Given the description of an element on the screen output the (x, y) to click on. 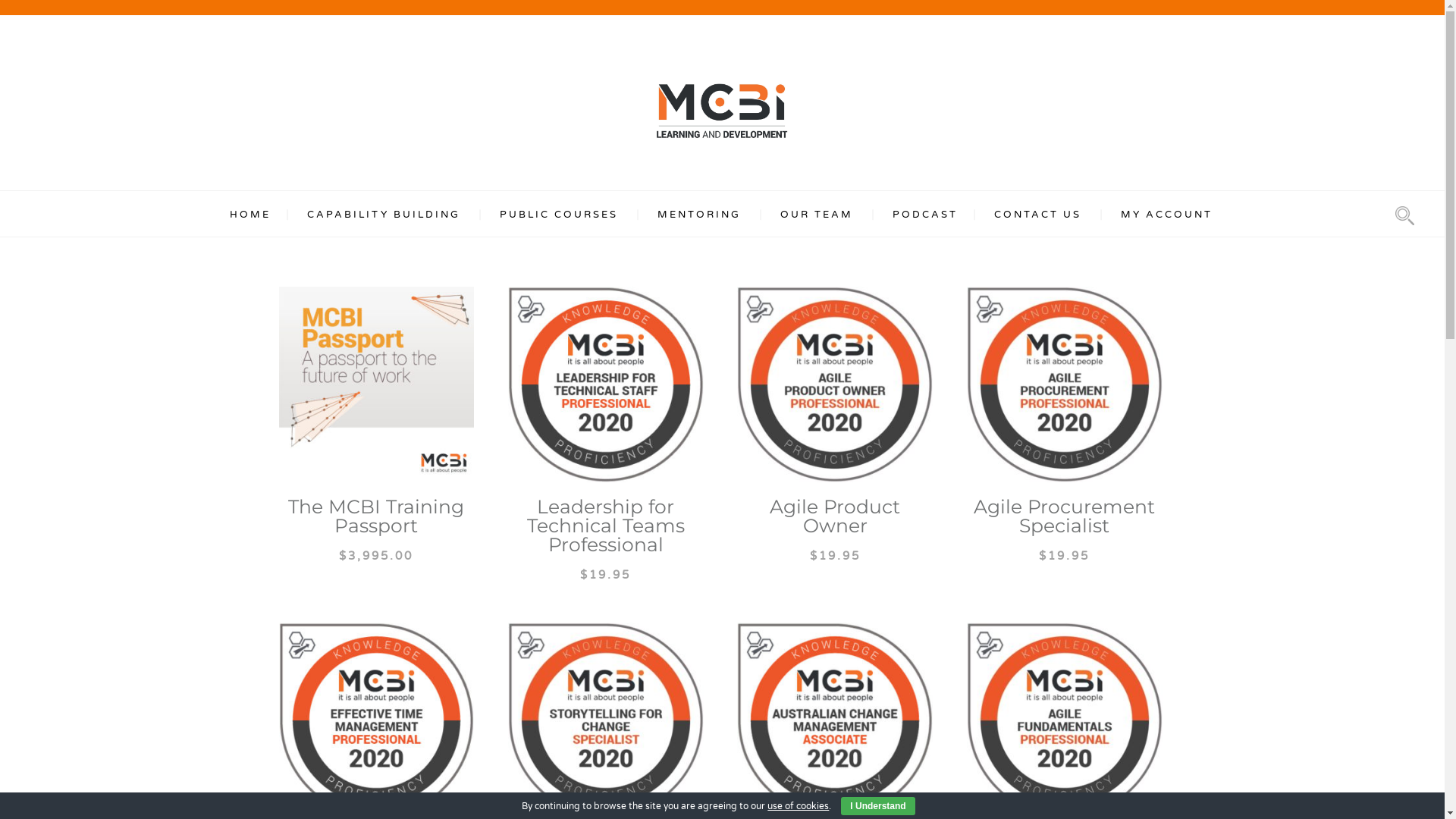
Agile Procurement Specialist
$19.95 Element type: text (1064, 423)
Agile Product Owner
$19.95 Element type: text (834, 423)
I Understand Element type: text (877, 806)
PODCAST Element type: text (924, 214)
The MCBI Training Passport
$3,995.00 Element type: text (376, 423)
Leadership for Technical Teams Professional
$19.95 Element type: text (605, 433)
MENTORING Element type: text (698, 214)
CAPABILITY BUILDING Element type: text (382, 214)
MY ACCOUNT Element type: text (1166, 214)
Search Element type: text (902, 409)
PUBLIC COURSES Element type: text (557, 214)
OUR TEAM Element type: text (815, 214)
CONTACT US Element type: text (1036, 214)
HOME Element type: text (249, 214)
use of cookies Element type: text (797, 805)
